Given the description of an element on the screen output the (x, y) to click on. 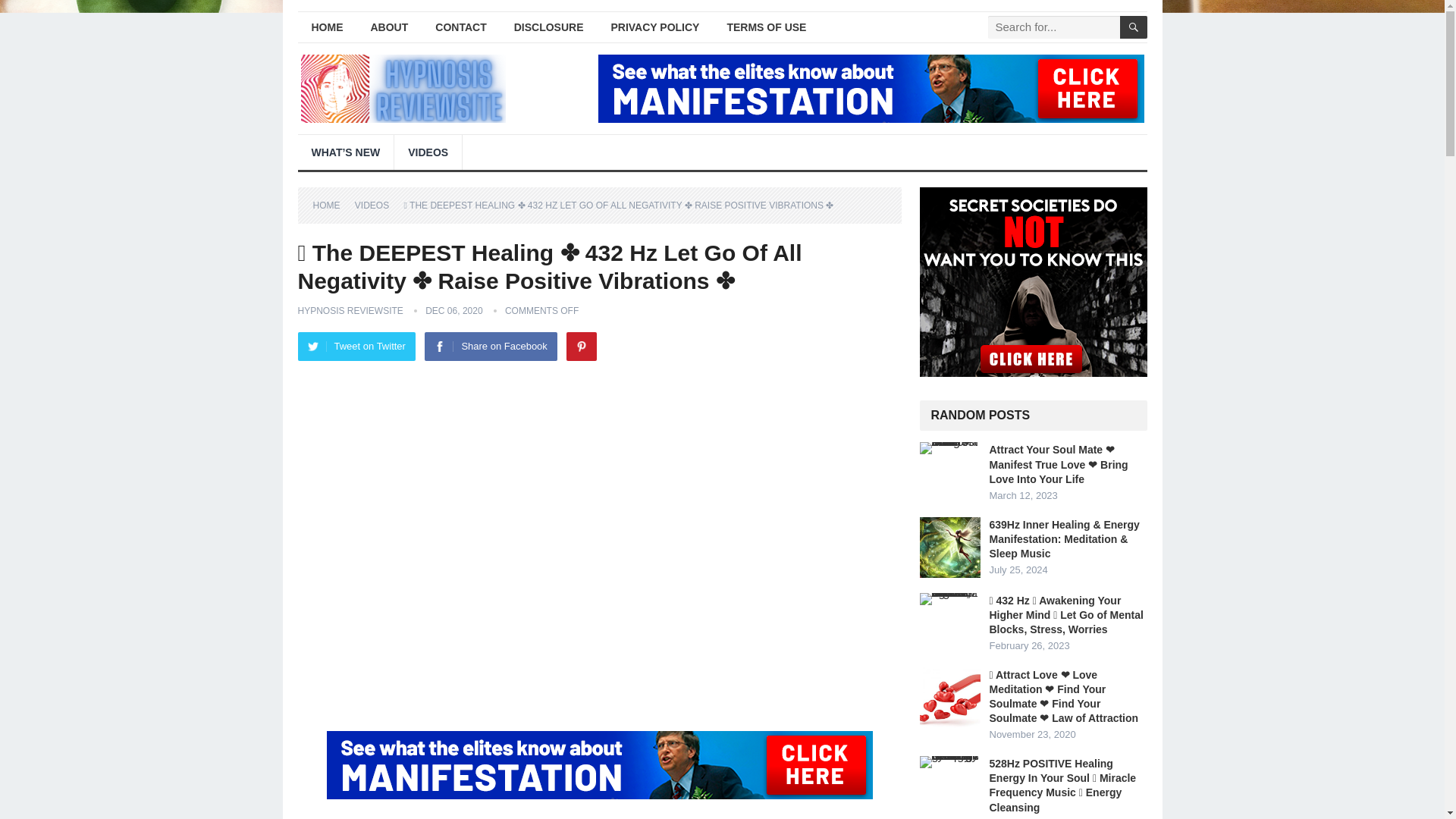
PRIVACY POLICY (654, 27)
Pinterest (581, 346)
VIDEOS (376, 204)
TERMS OF USE (766, 27)
HYPNOSIS REVIEWSITE (350, 310)
ABOUT (389, 27)
Share on Facebook (490, 346)
CONTACT (460, 27)
VIDEOS (427, 152)
HOME (331, 204)
HOME (326, 27)
DISCLOSURE (548, 27)
Tweet on Twitter (355, 346)
View all posts in Videos (376, 204)
Posts by Hypnosis Reviewsite (350, 310)
